Given the description of an element on the screen output the (x, y) to click on. 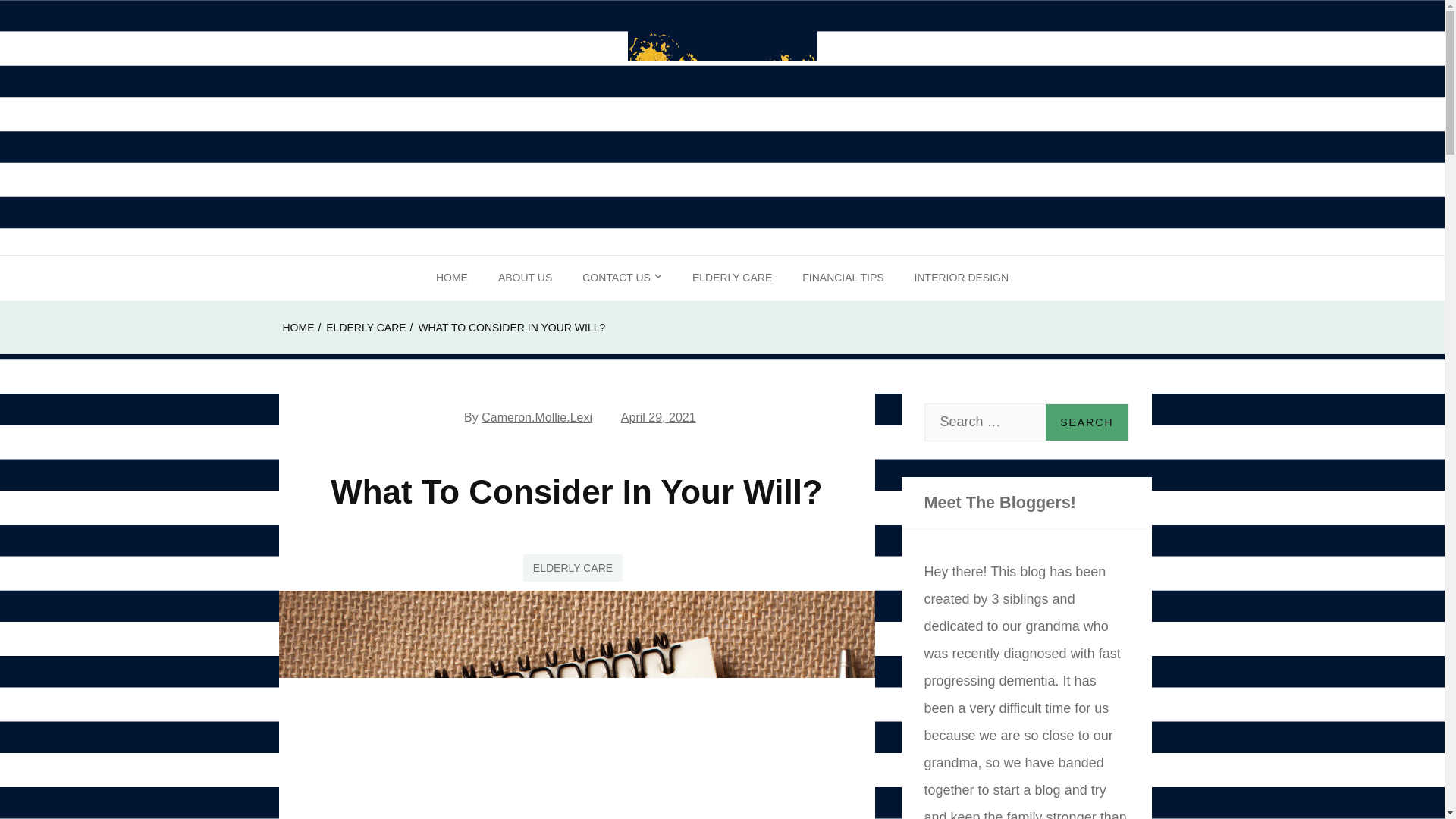
HOME (298, 327)
ELDERLY CARE (732, 278)
ELDERLY CARE (572, 567)
By Grandchildren (139, 279)
FINANCIAL TIPS (842, 278)
HOME (451, 278)
Search (1085, 422)
PRIVACY POLICY (627, 323)
Search (1085, 422)
ABOUT US (525, 278)
